Given the description of an element on the screen output the (x, y) to click on. 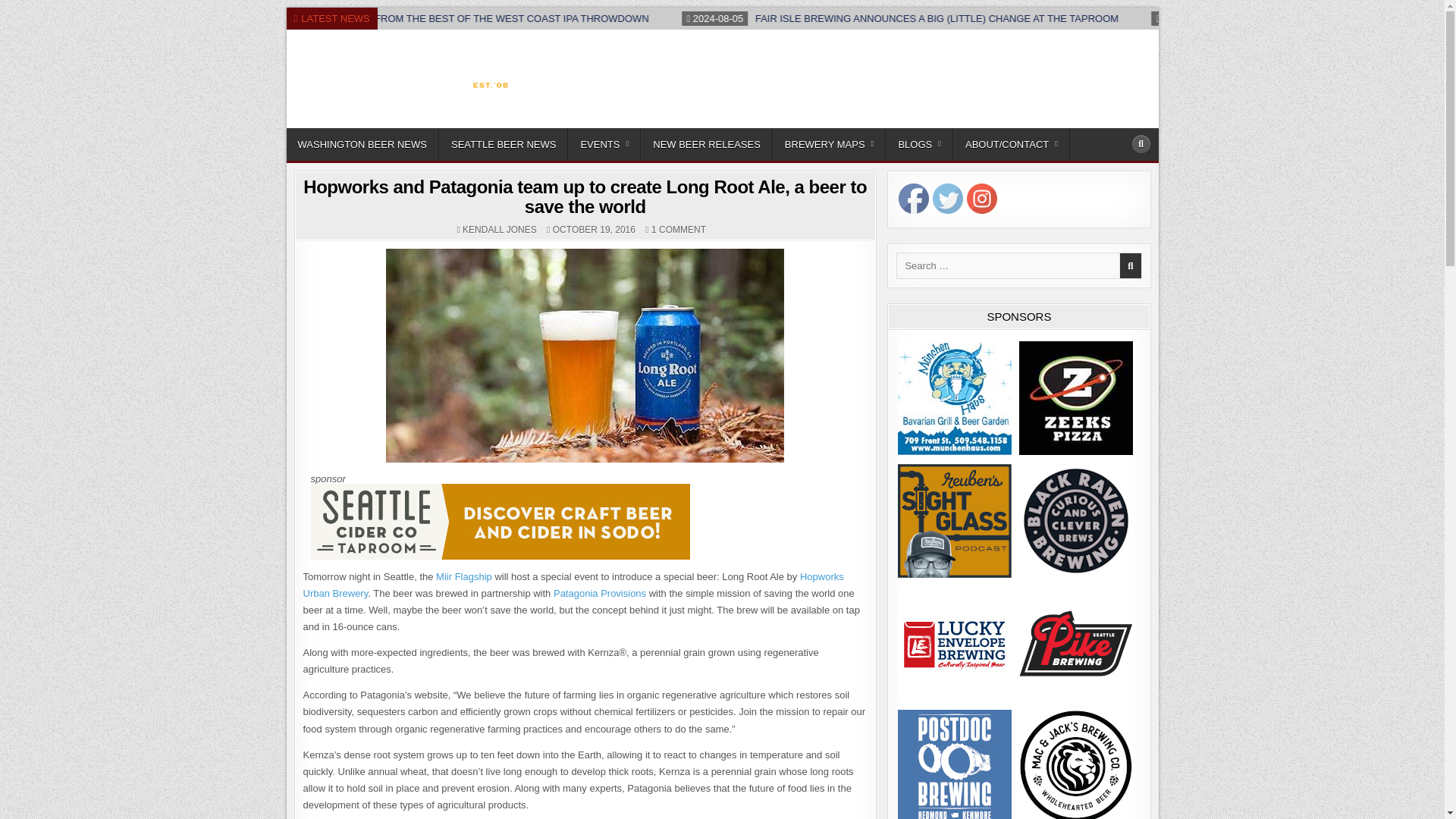
WASHINGTON BEER NEWS (362, 143)
KENDALL JONES (500, 229)
BLOGS (919, 143)
SEATTLE BEER NEWS (503, 143)
EVENTS (603, 143)
